Given the description of an element on the screen output the (x, y) to click on. 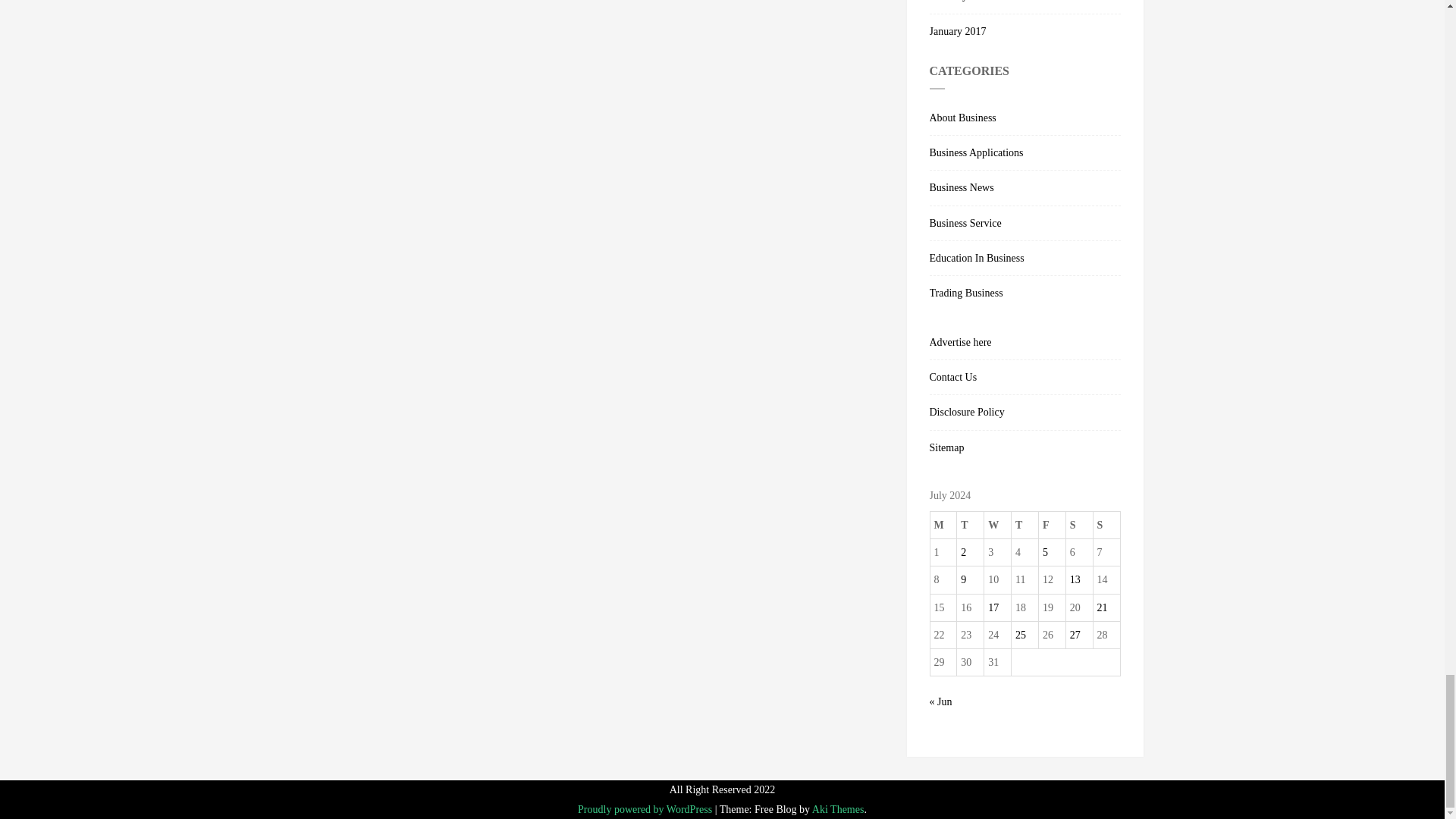
Wednesday (997, 524)
Saturday (1079, 524)
Friday (1051, 524)
Sunday (1106, 524)
Tuesday (970, 524)
Thursday (1025, 524)
Monday (943, 524)
